Given the description of an element on the screen output the (x, y) to click on. 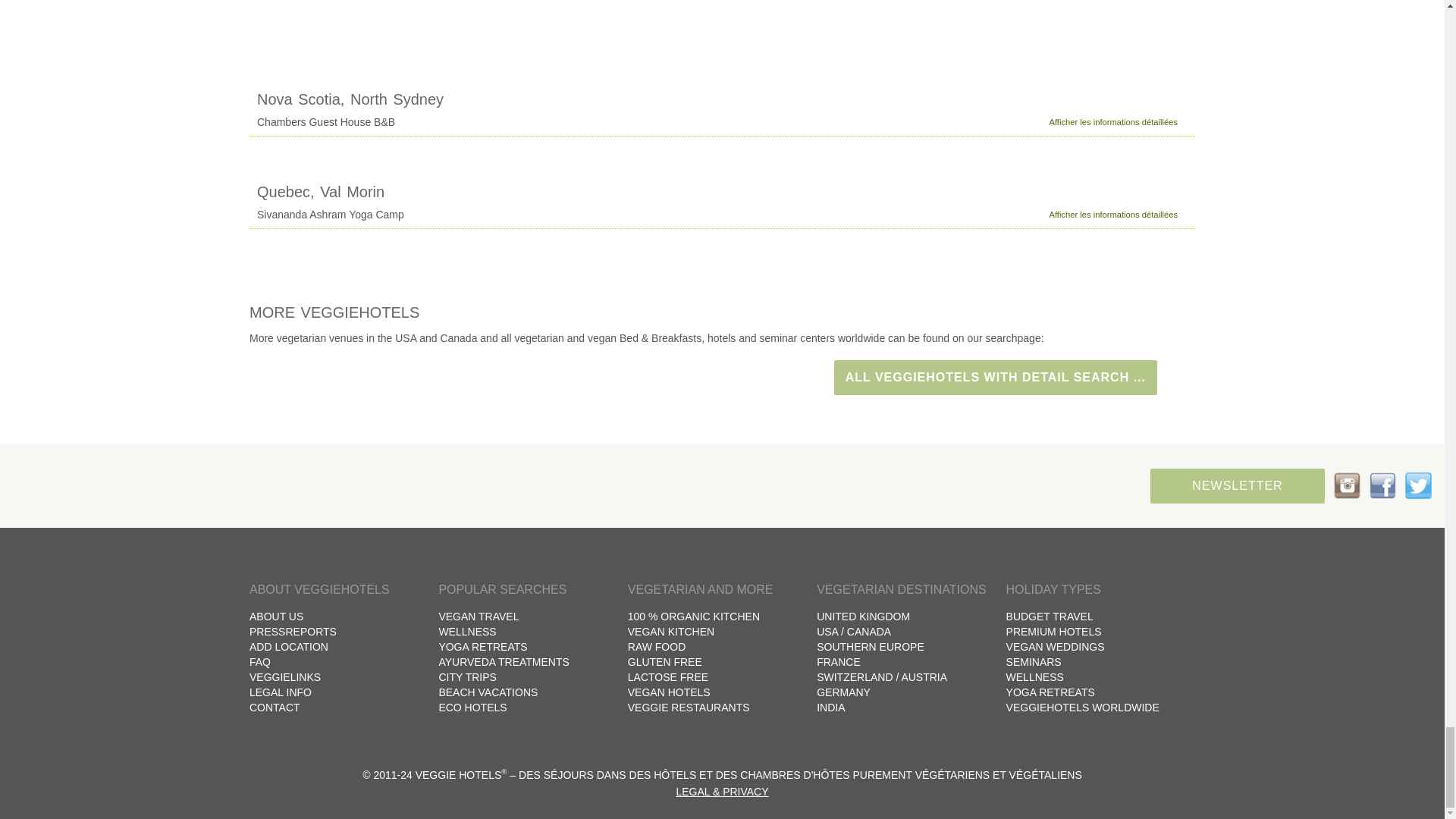
All VeggieHotels with detailed search (995, 377)
